Given the description of an element on the screen output the (x, y) to click on. 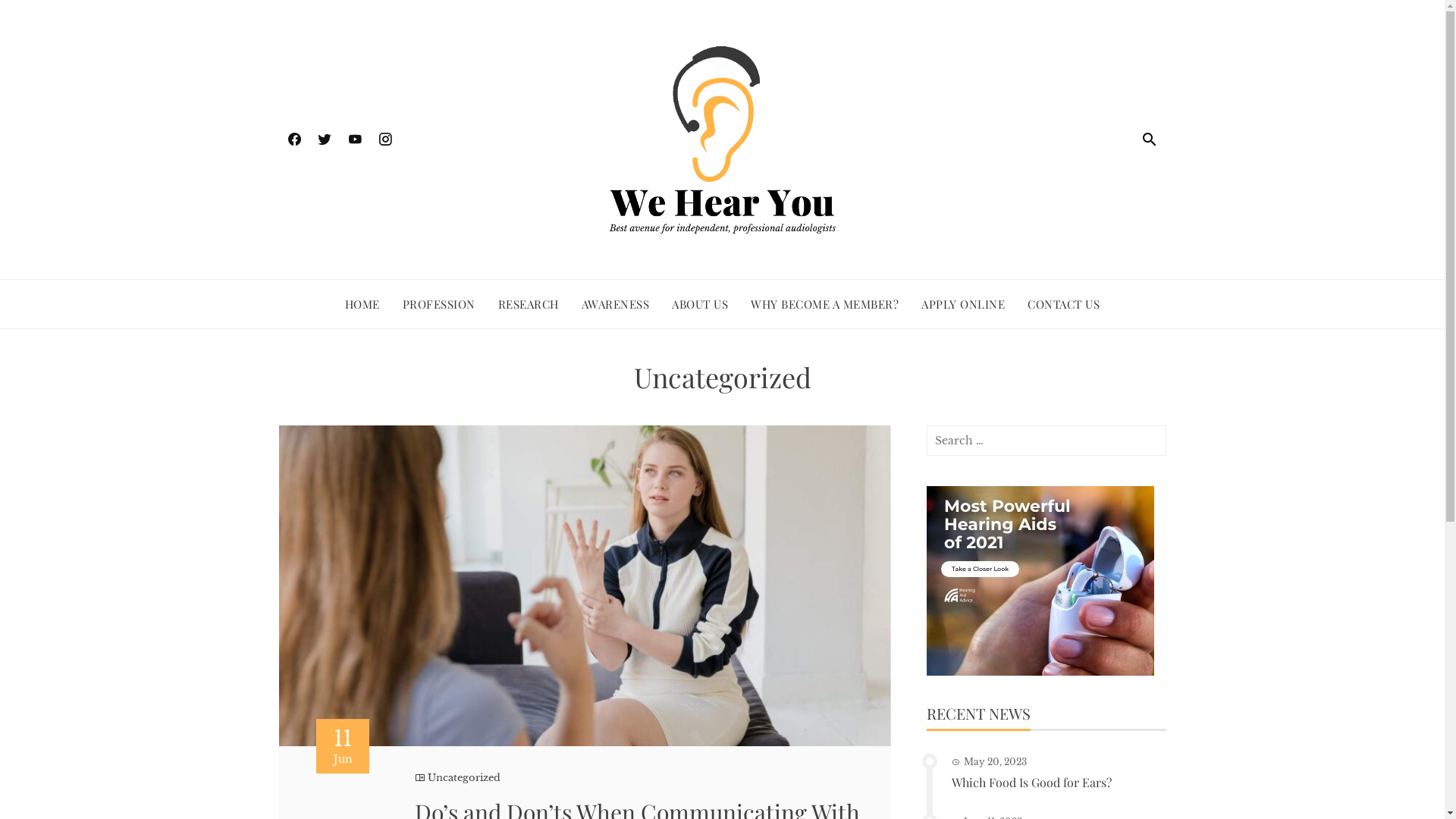
WHY BECOME A MEMBER? Element type: text (824, 303)
AWARENESS Element type: text (615, 303)
Search Element type: text (34, 15)
APPLY ONLINE Element type: text (962, 303)
ABOUT US Element type: text (699, 303)
RESEARCH Element type: text (528, 303)
Which Food Is Good for Ears? Element type: text (1031, 782)
CONTACT US Element type: text (1063, 303)
HOME Element type: text (362, 303)
PROFESSION Element type: text (438, 303)
Uncategorized Element type: text (463, 777)
